Given the description of an element on the screen output the (x, y) to click on. 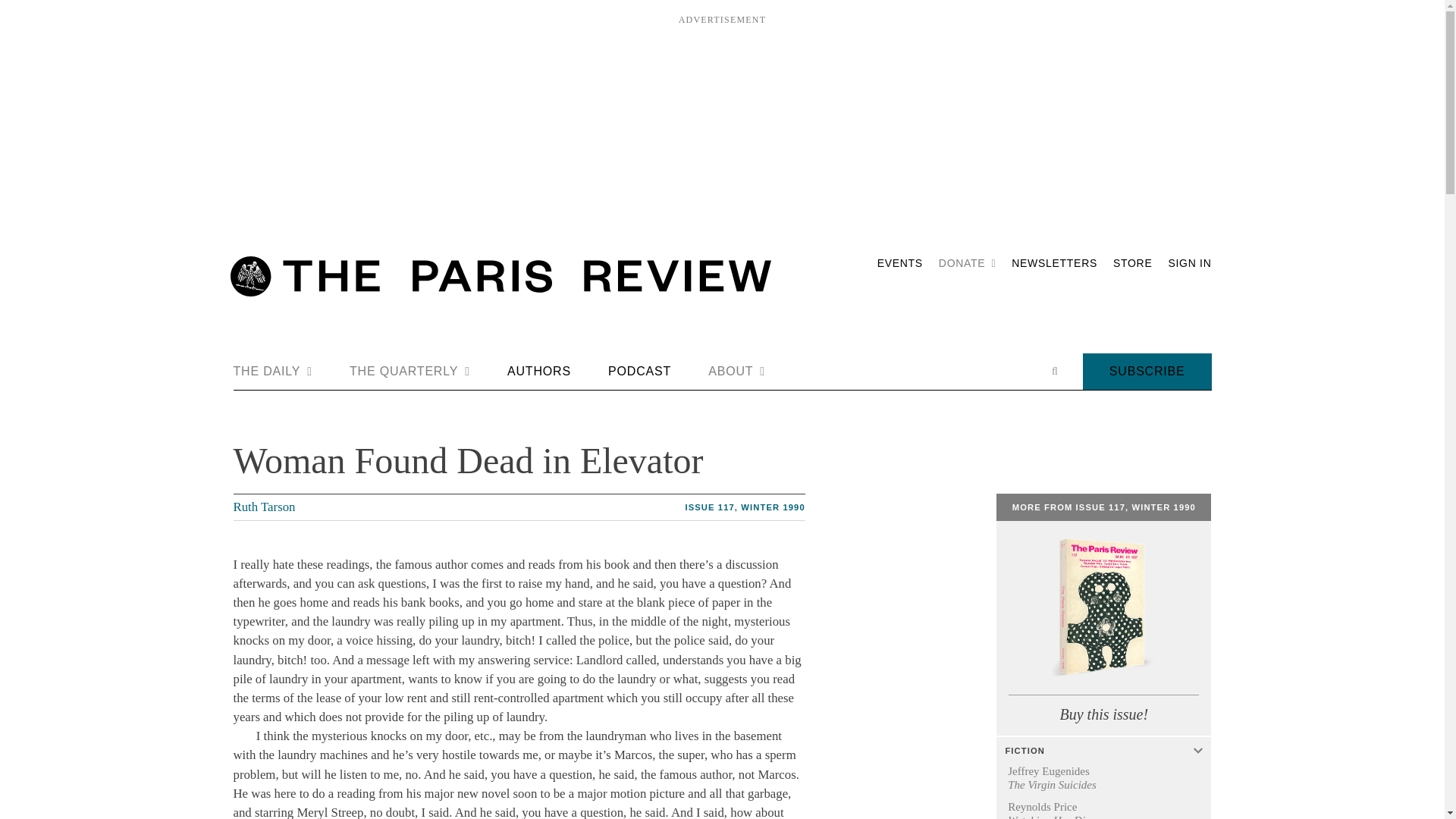
THE DAILY (272, 371)
THE QUARTERLY (409, 371)
Open search (1054, 371)
